Given the description of an element on the screen output the (x, y) to click on. 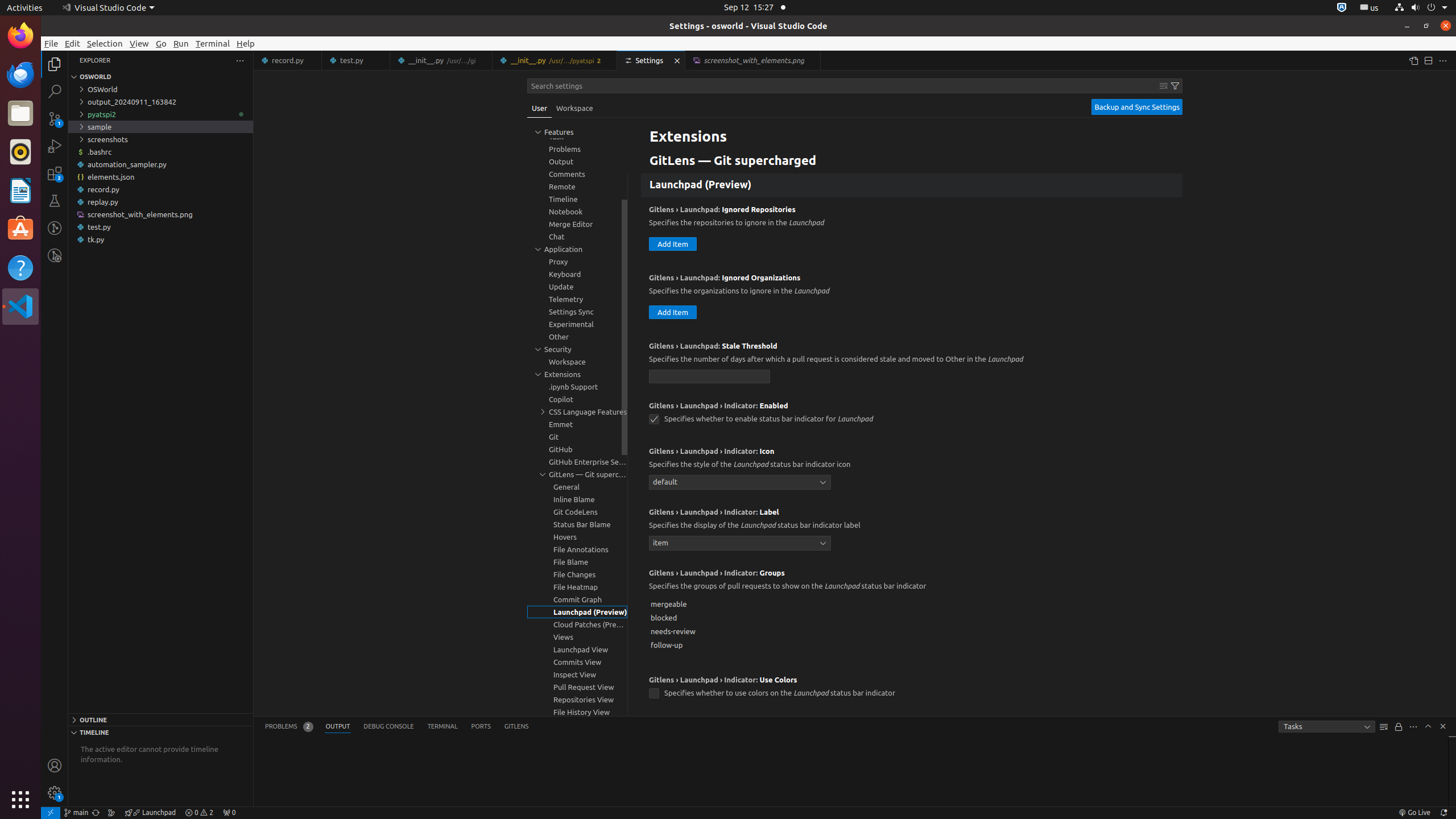
test.py Element type: page-tab (355, 60)
File Heatmap, group Element type: tree-item (577, 586)
test.py Element type: tree-item (160, 226)
OSWorld (Git) - main, Checkout Branch/Tag... Element type: push-button (75, 812)
default Element type: menu-item (739, 481)
